Given the description of an element on the screen output the (x, y) to click on. 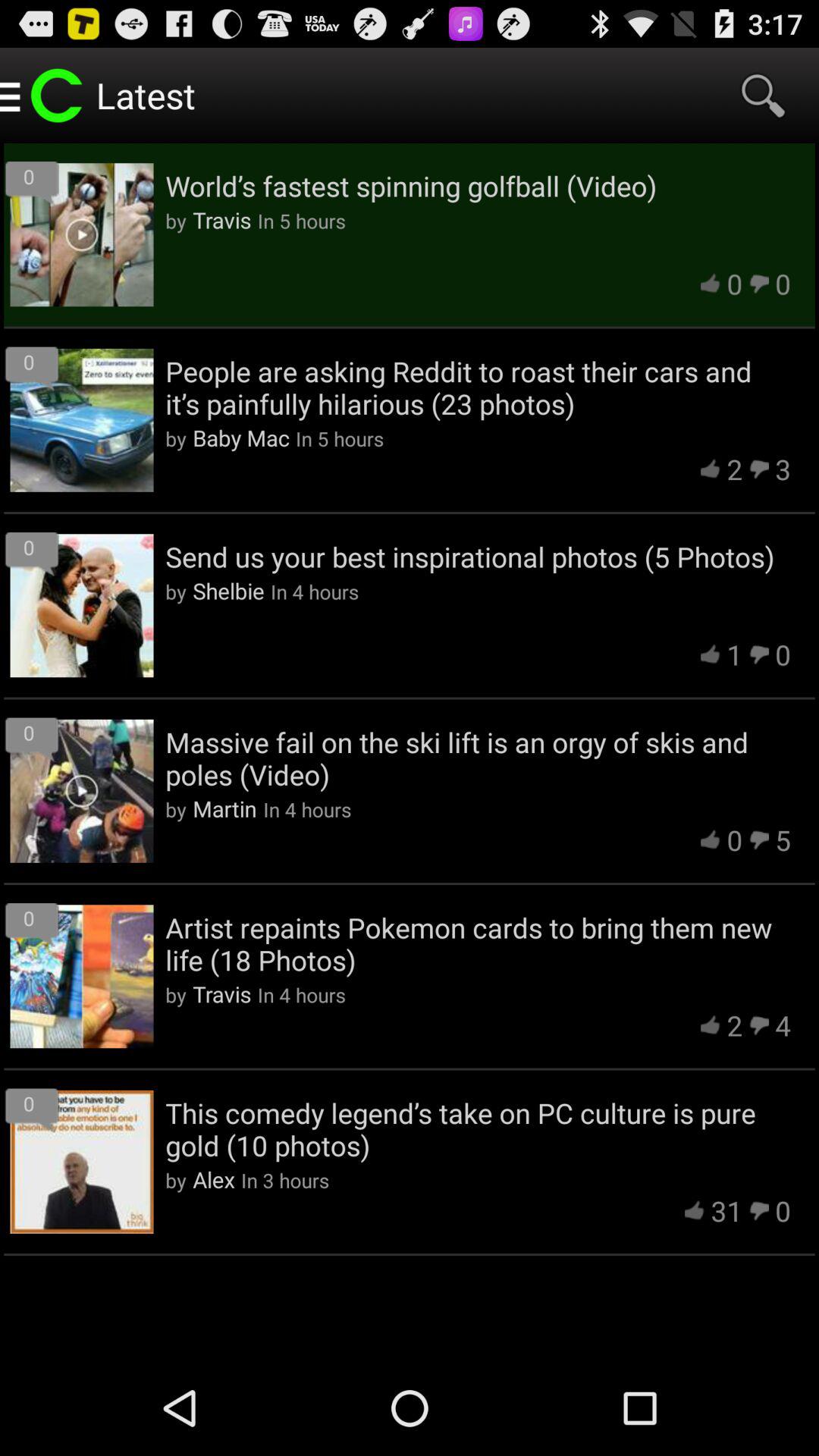
launch item above the artist repaints pokemon app (224, 808)
